Given the description of an element on the screen output the (x, y) to click on. 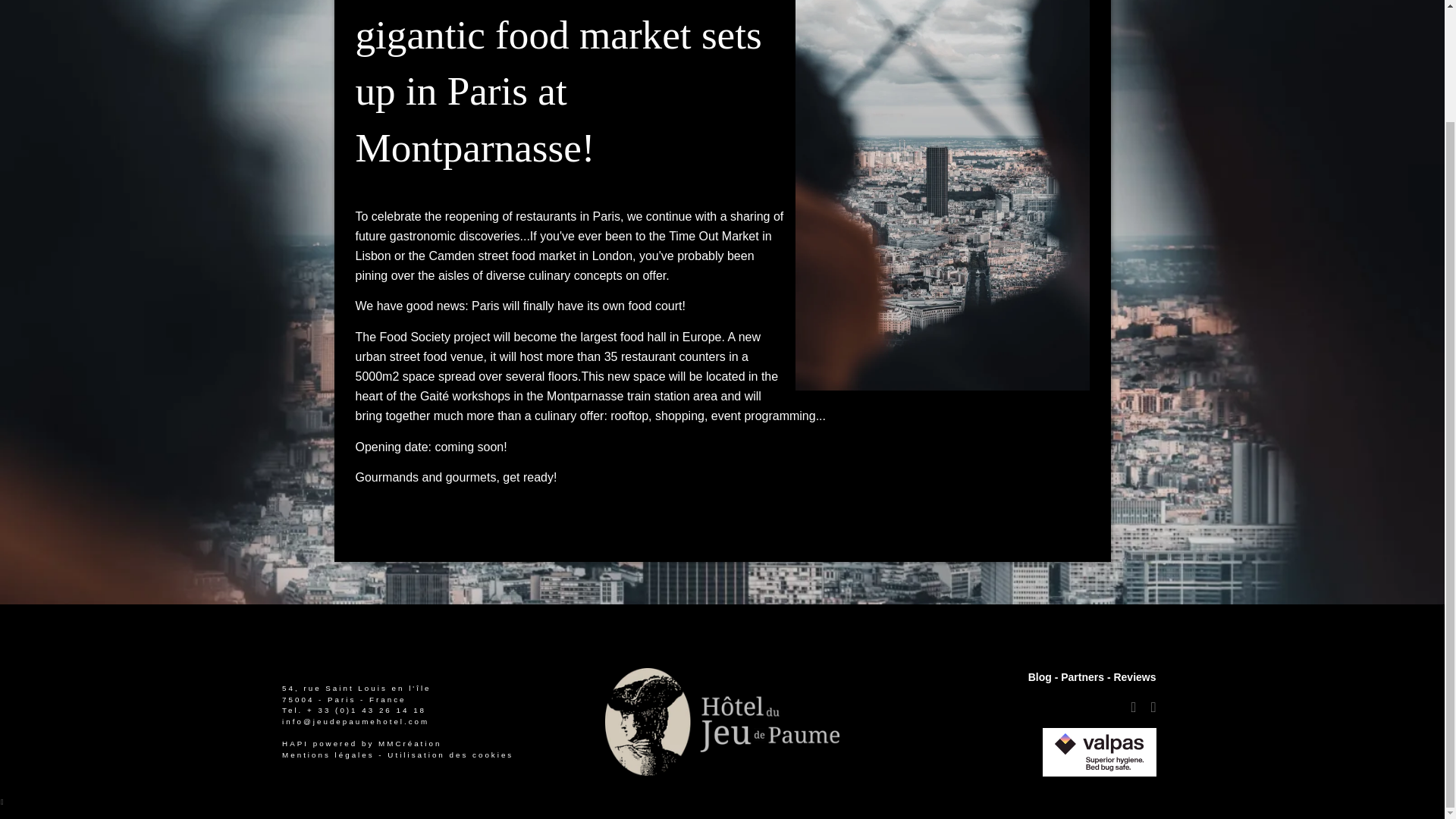
Utilisation des cookies (450, 755)
Partners (1082, 676)
Reviews (1134, 676)
HAPI (295, 749)
